Given the description of an element on the screen output the (x, y) to click on. 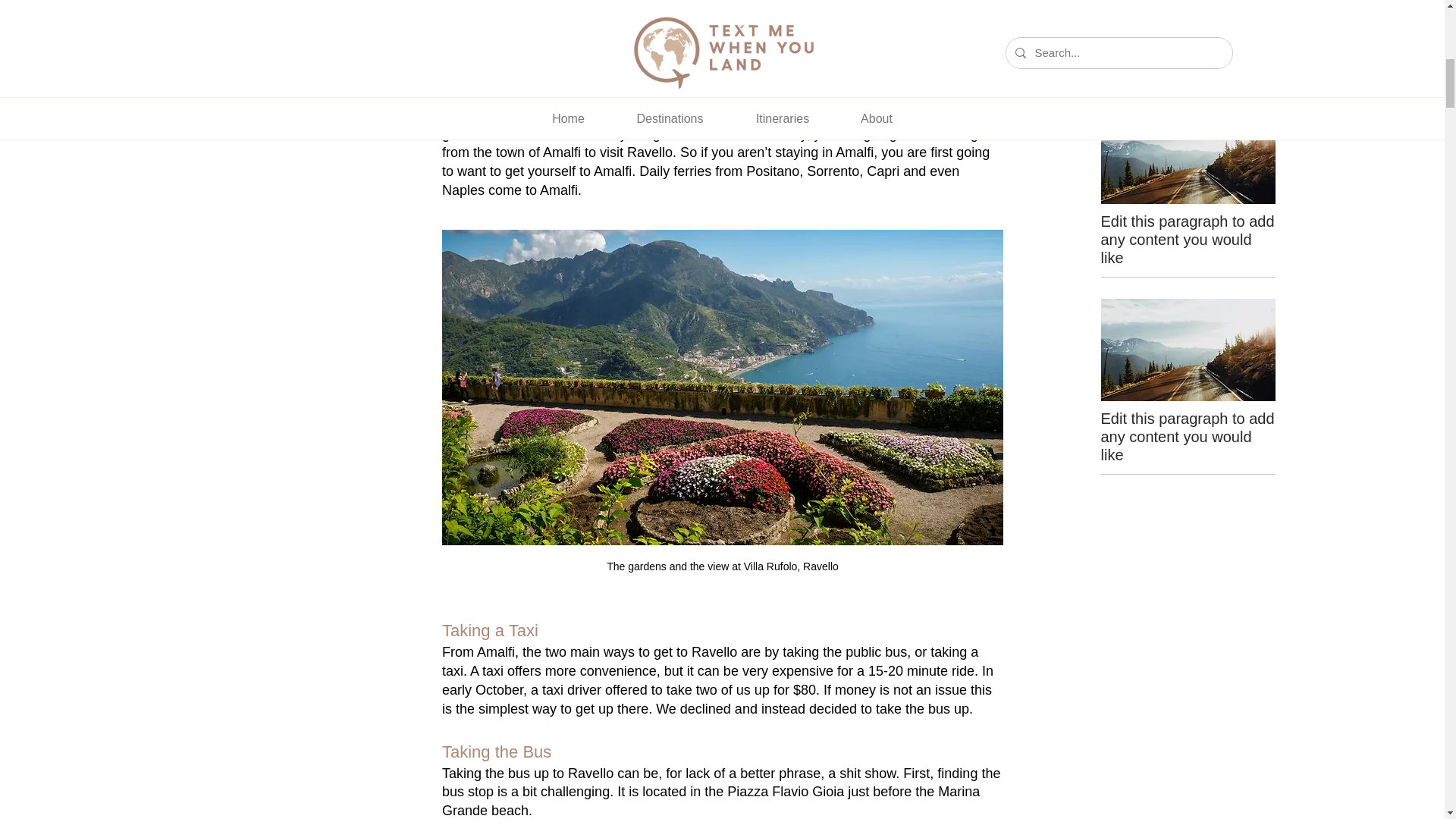
Countryside Road (1187, 152)
Countryside Road (1187, 3)
Countryside Road (1187, 349)
